Given the description of an element on the screen output the (x, y) to click on. 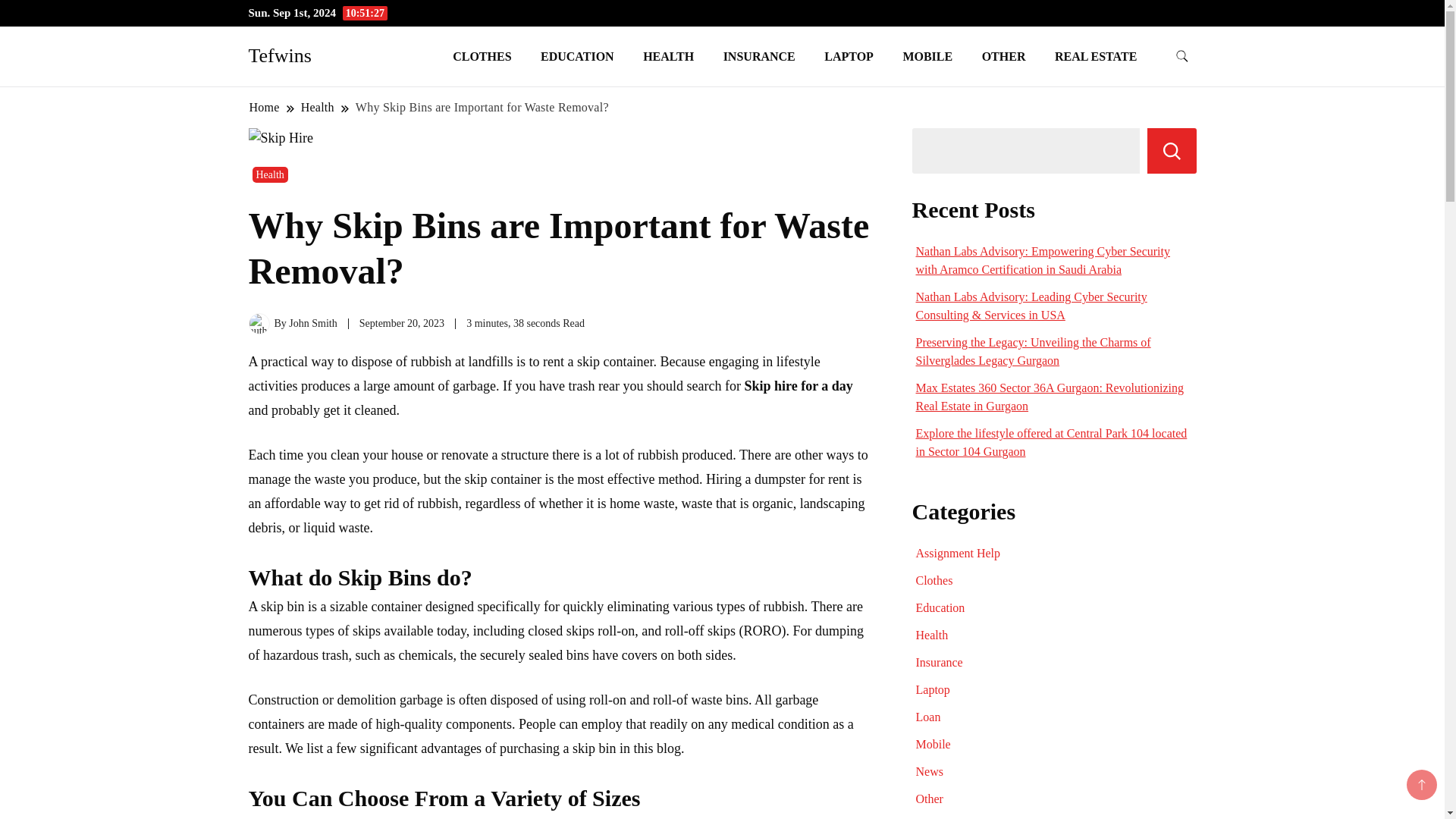
INSURANCE (759, 56)
Health (316, 106)
EDUCATION (577, 56)
REAL ESTATE (1096, 56)
CLOTHES (481, 56)
OTHER (1004, 56)
MOBILE (927, 56)
Home (264, 106)
Why Skip Bins are Important for Waste Removal? (482, 106)
Health (268, 174)
